Given the description of an element on the screen output the (x, y) to click on. 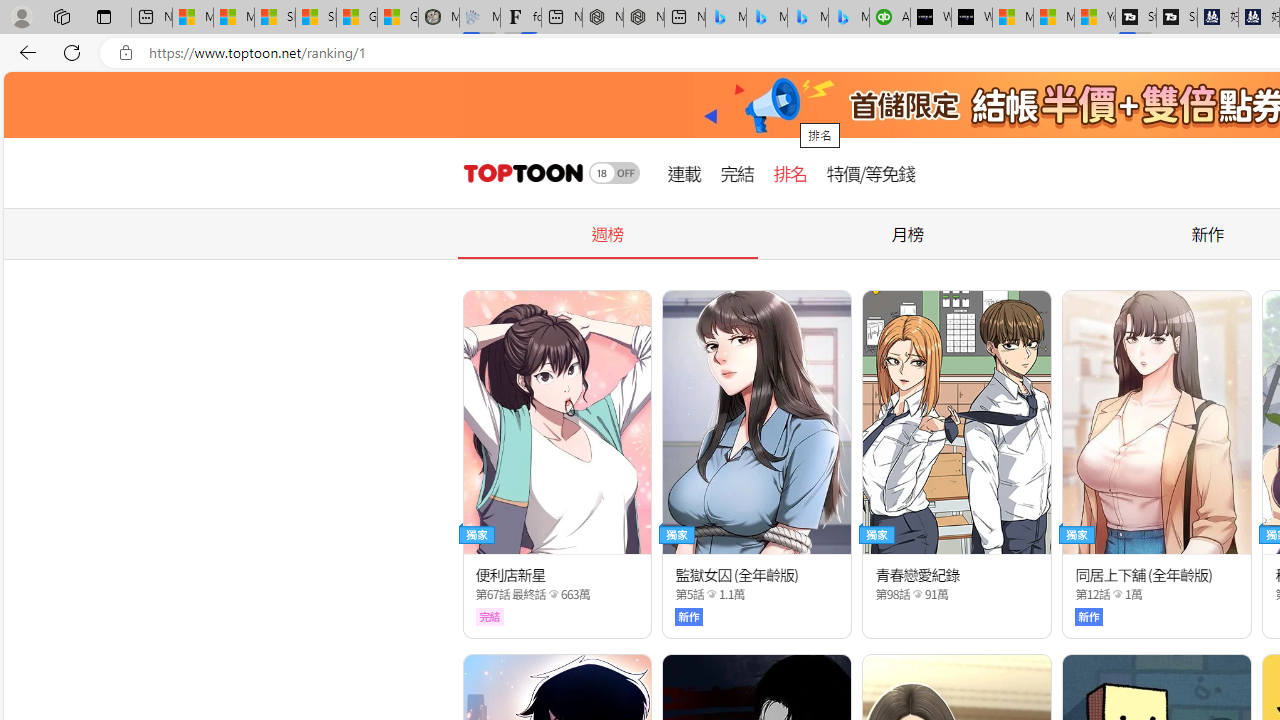
Class: epicon_starpoint (1117, 593)
